Given the description of an element on the screen output the (x, y) to click on. 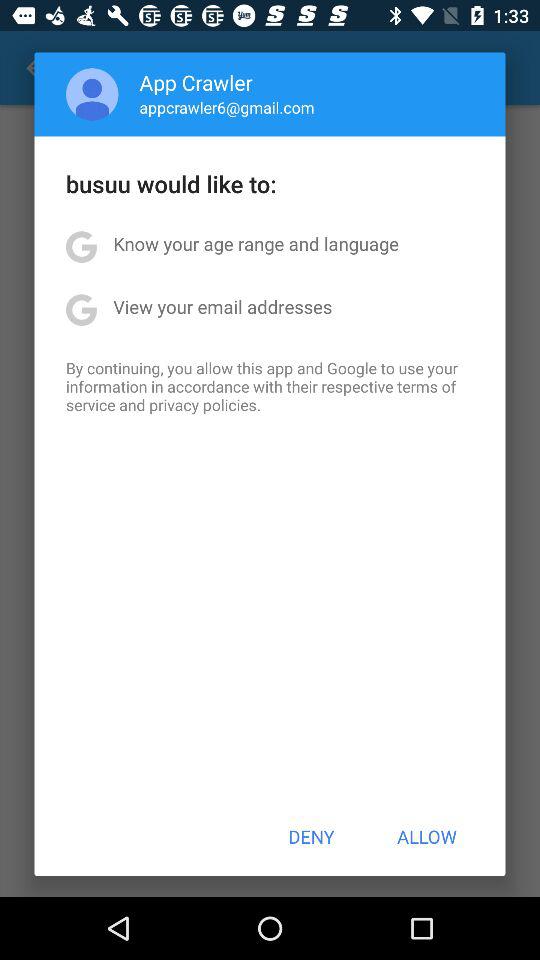
press app crawler app (195, 82)
